Given the description of an element on the screen output the (x, y) to click on. 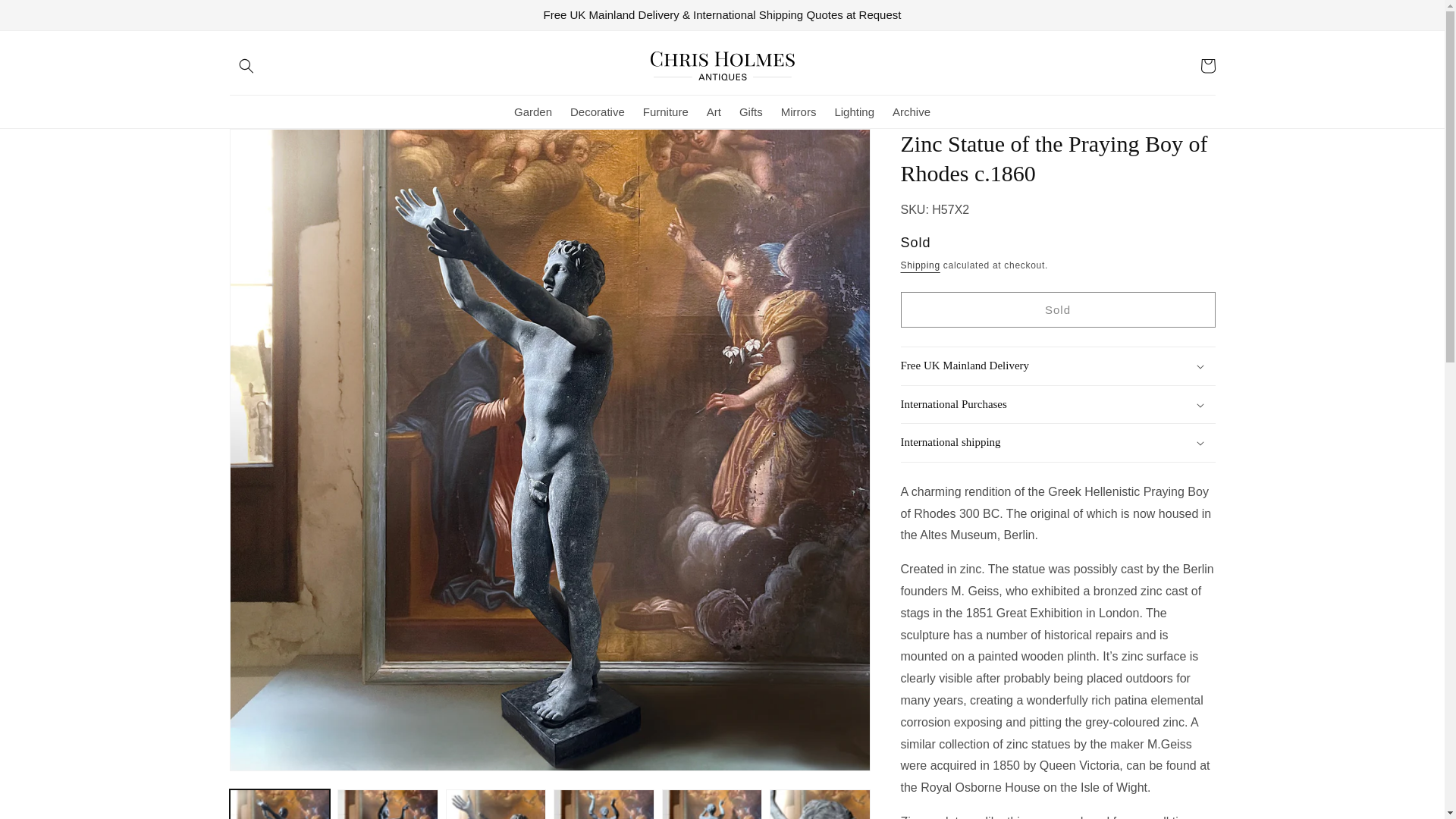
Archive (911, 111)
Mirrors (798, 111)
Decorative (596, 111)
Cart (1207, 65)
Garden (532, 111)
Gifts (750, 111)
Furniture (665, 111)
Skip to product information (274, 145)
Lighting (854, 111)
Art (713, 111)
Skip to content (45, 17)
